Given the description of an element on the screen output the (x, y) to click on. 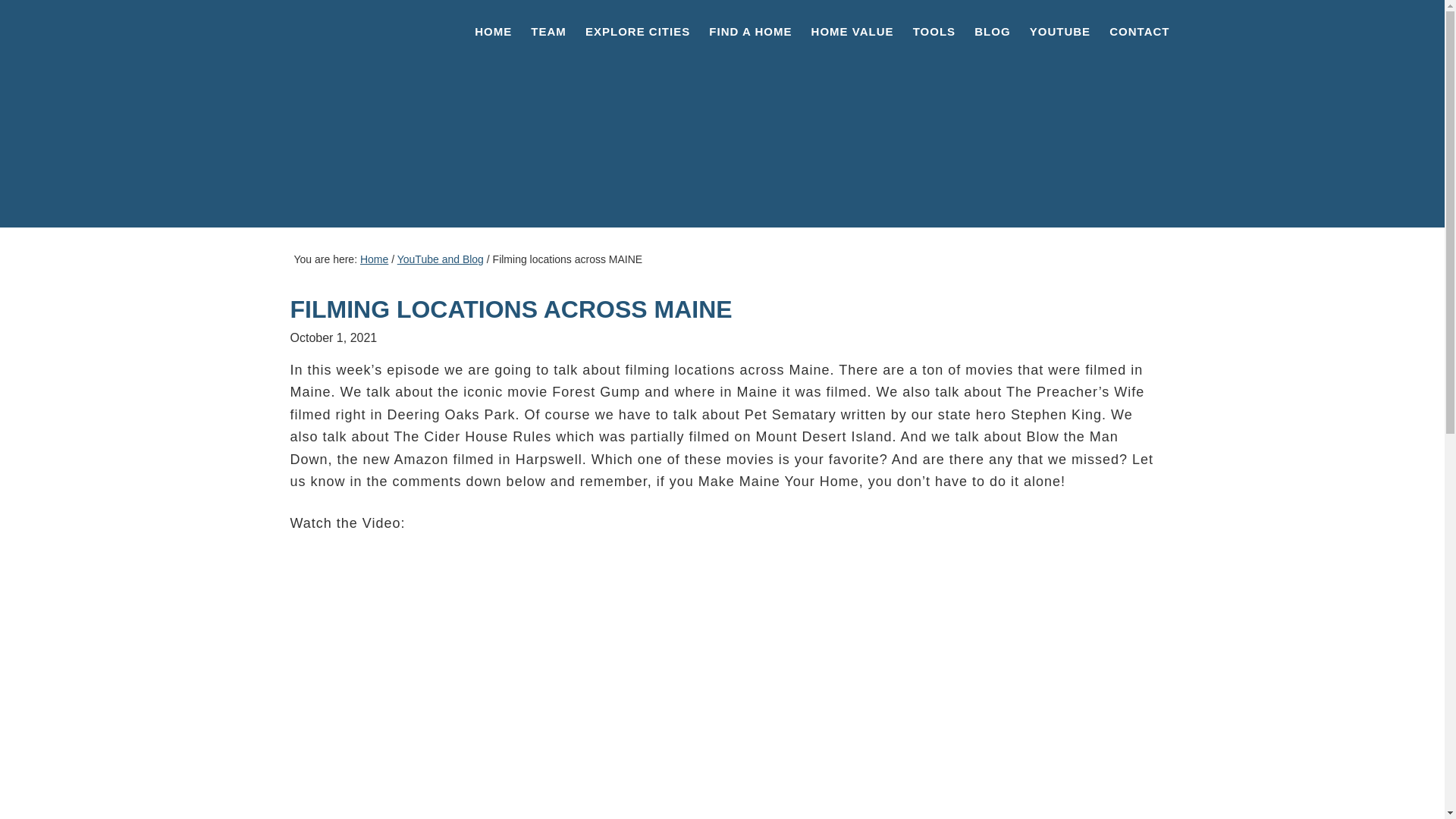
CONTACT (1139, 31)
Scroll to Top (1408, 782)
Filming Locations Across MAINE (478, 659)
YouTube and Blog (440, 259)
Home (373, 259)
EXPLORE CITIES (637, 31)
HOME VALUE (851, 31)
Top (1408, 782)
FIND A HOME (750, 31)
YOUTUBE (1059, 31)
